Given the description of an element on the screen output the (x, y) to click on. 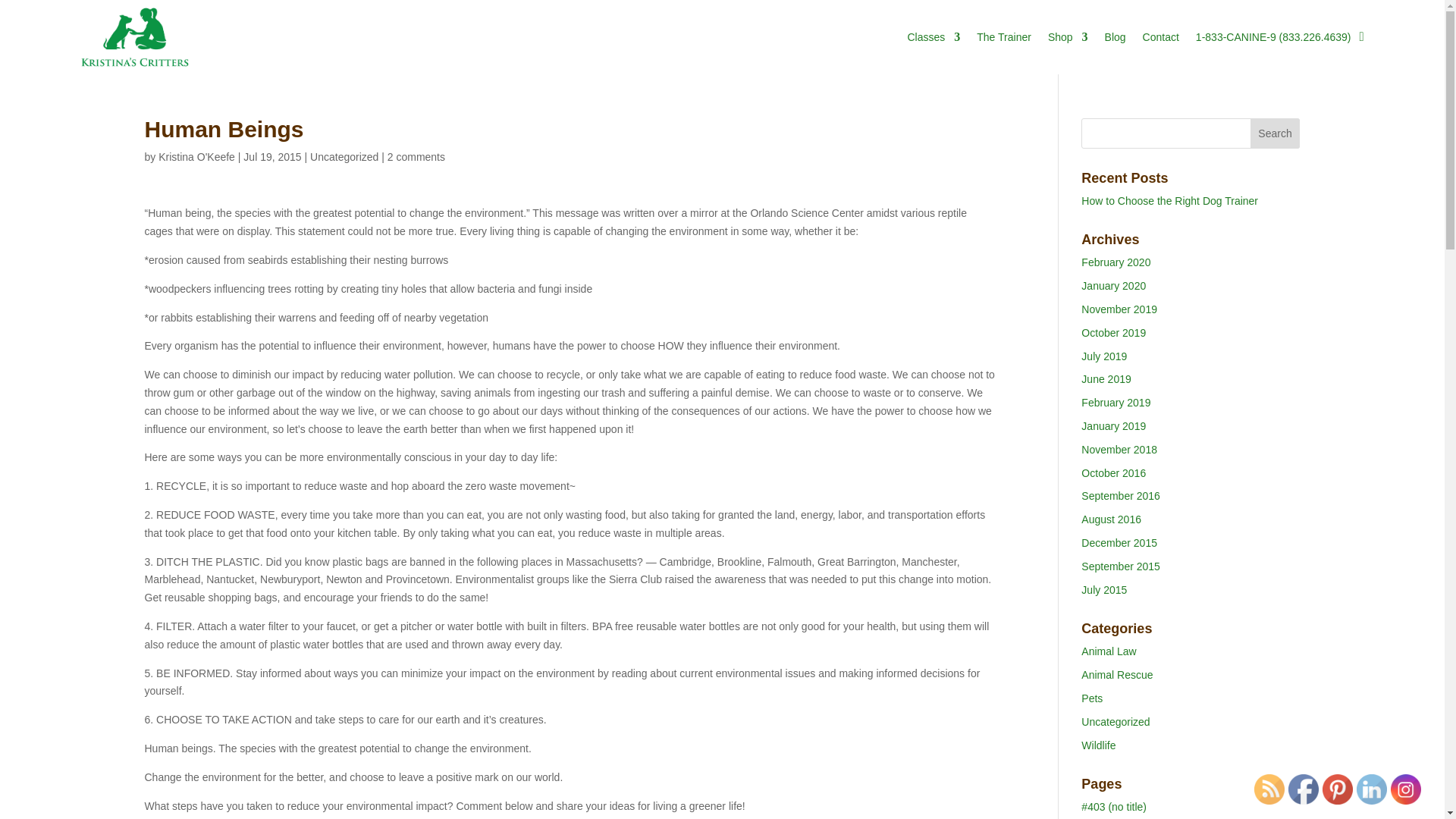
LinkedIn (1371, 788)
Search (1275, 132)
Posts by Kristina O'Keefe (196, 156)
Uncategorized (344, 156)
2 comments (416, 156)
Instagram (1405, 788)
RSS (1268, 788)
Facebook (1303, 788)
Pinterest (1337, 788)
Kristina O'Keefe (196, 156)
